Given the description of an element on the screen output the (x, y) to click on. 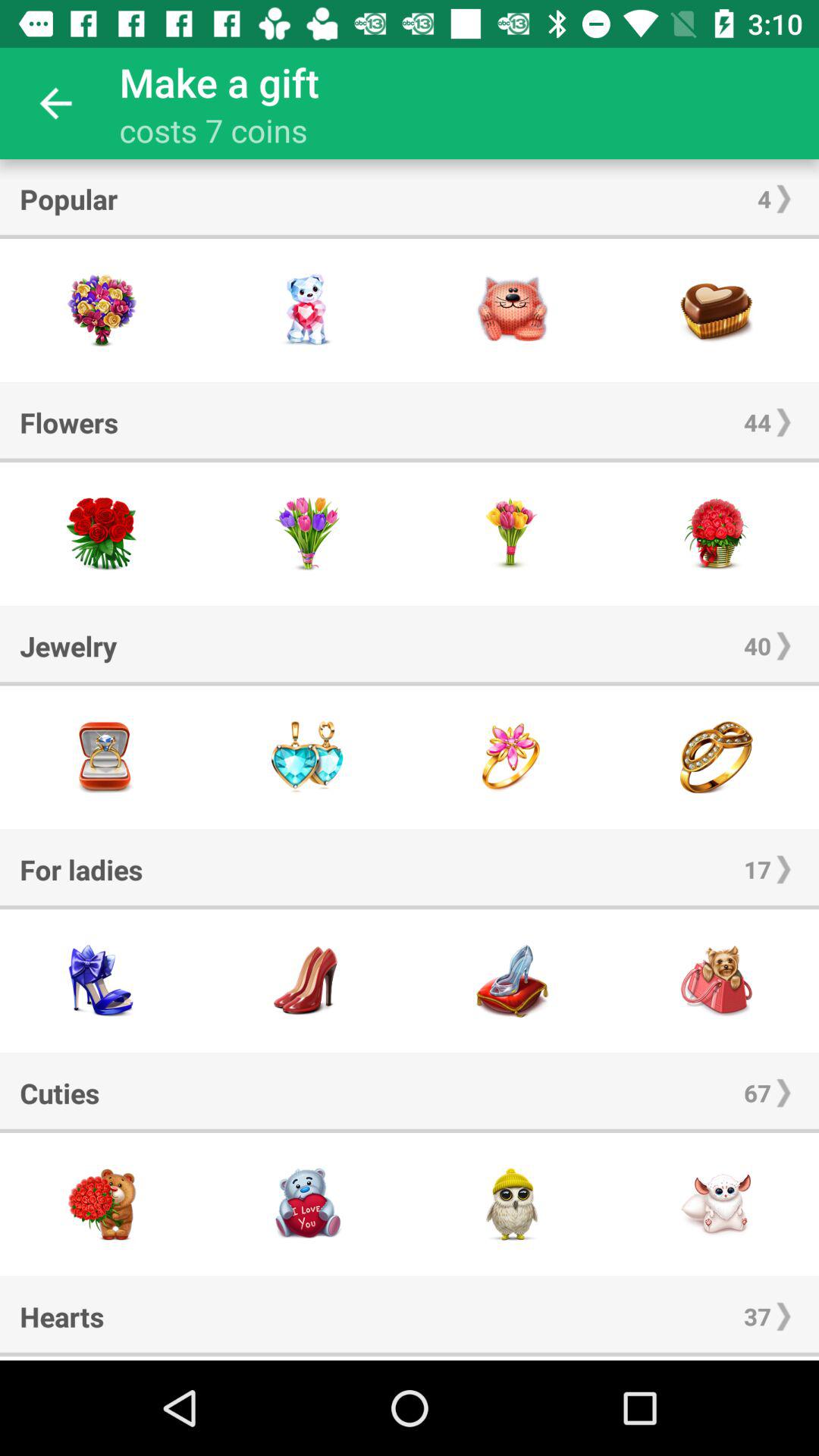
share the article (511, 1204)
